Given the description of an element on the screen output the (x, y) to click on. 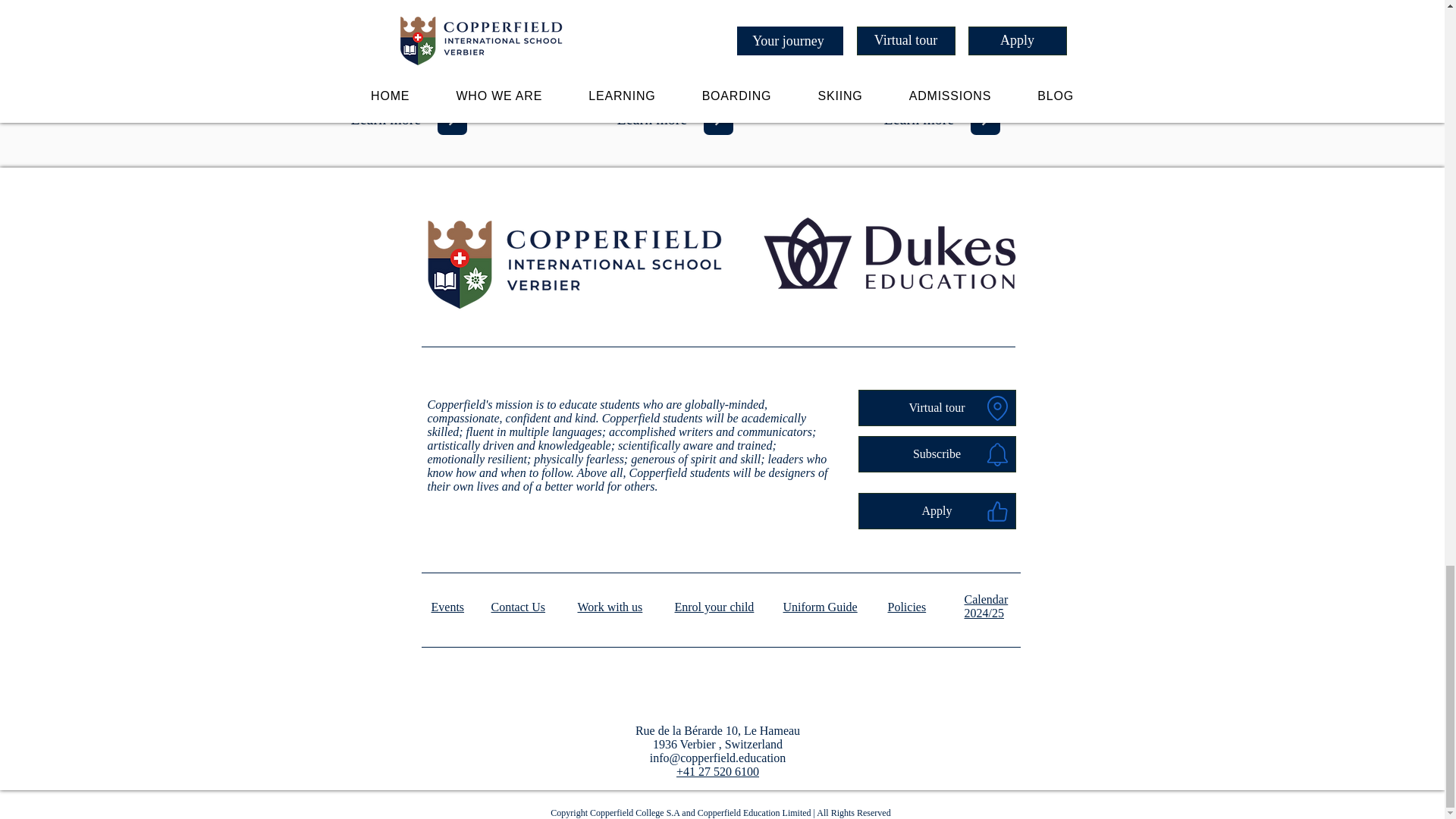
Subscribe (937, 453)
Apply (937, 511)
Virtual tour (937, 407)
